Given the description of an element on the screen output the (x, y) to click on. 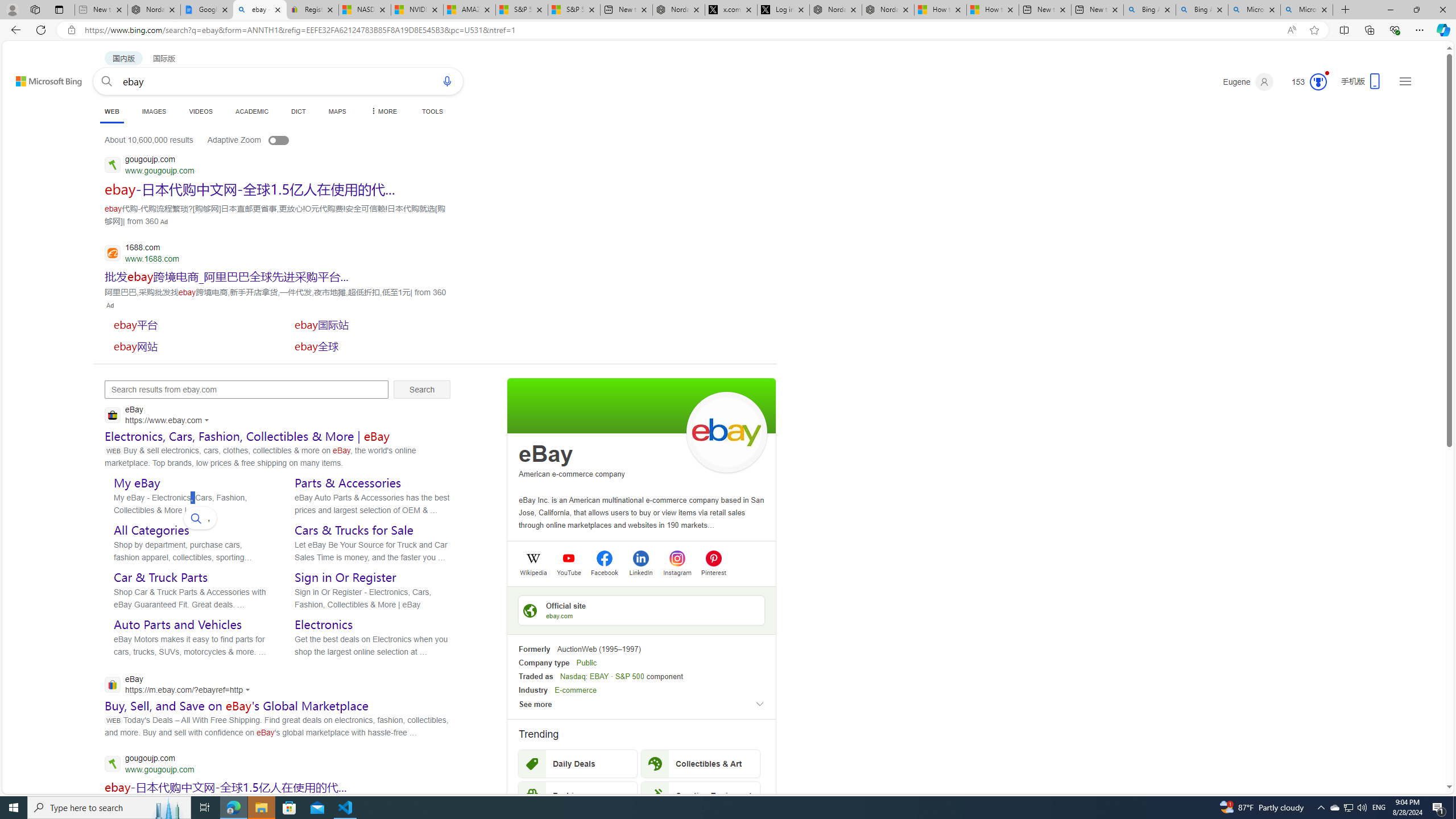
Search using voice (446, 80)
Actions for this site (249, 689)
Daily Deals (577, 763)
AutomationID: mfa_root (1406, 752)
Log in to X / X (782, 9)
TOOLS (431, 111)
Sporting Equipment (701, 795)
TOOLS (431, 111)
Wikipedia (533, 571)
